Given the description of an element on the screen output the (x, y) to click on. 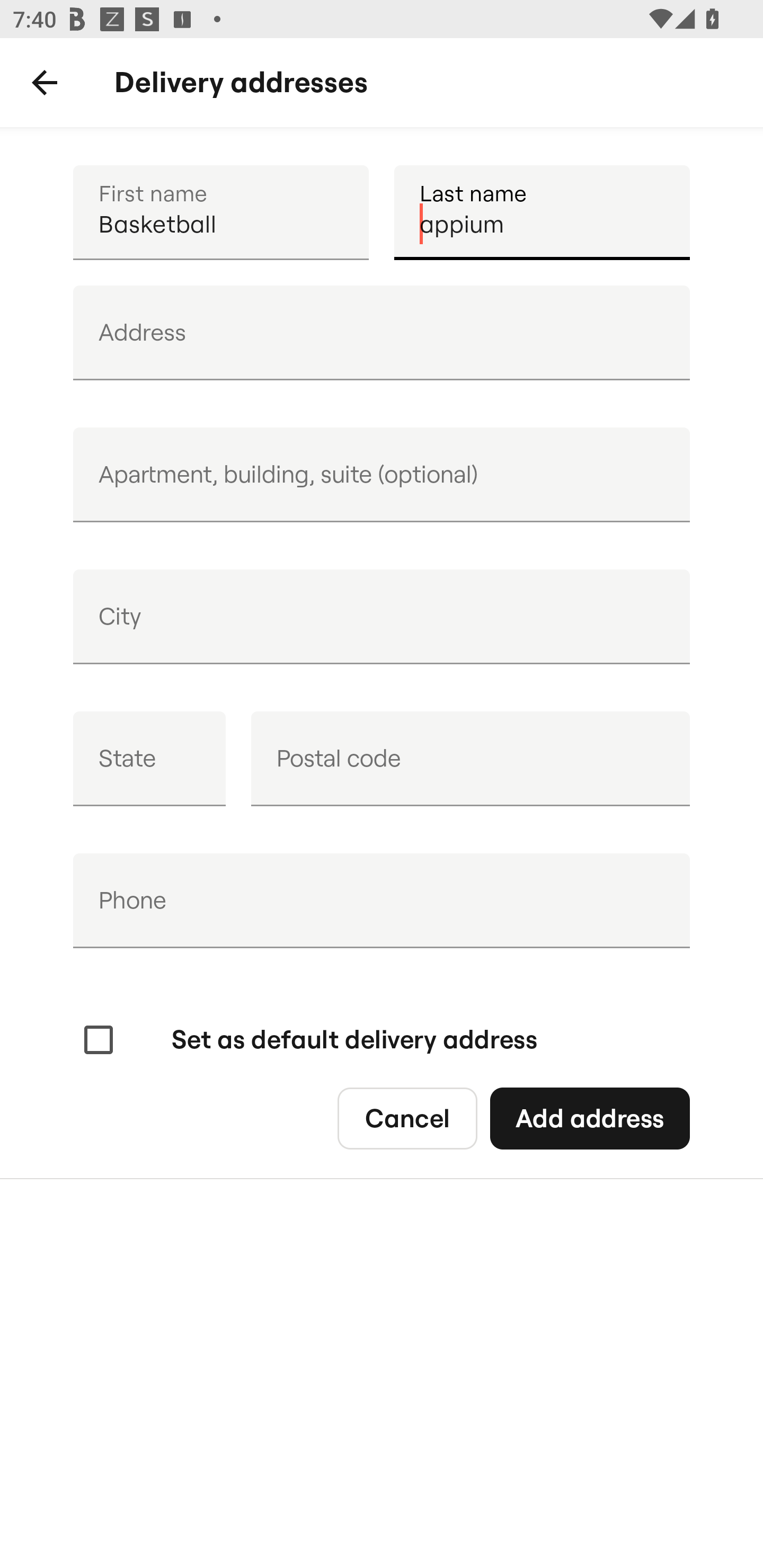
Back (44, 82)
Basketball (220, 212)
appium (541, 212)
Address (381, 333)
Apartment, building, suite (optional) (381, 475)
City (381, 616)
State (149, 758)
Postal code (470, 758)
Phone (381, 900)
Set as default delivery address (308, 1039)
Cancel (407, 1118)
Add address (589, 1118)
